Given the description of an element on the screen output the (x, y) to click on. 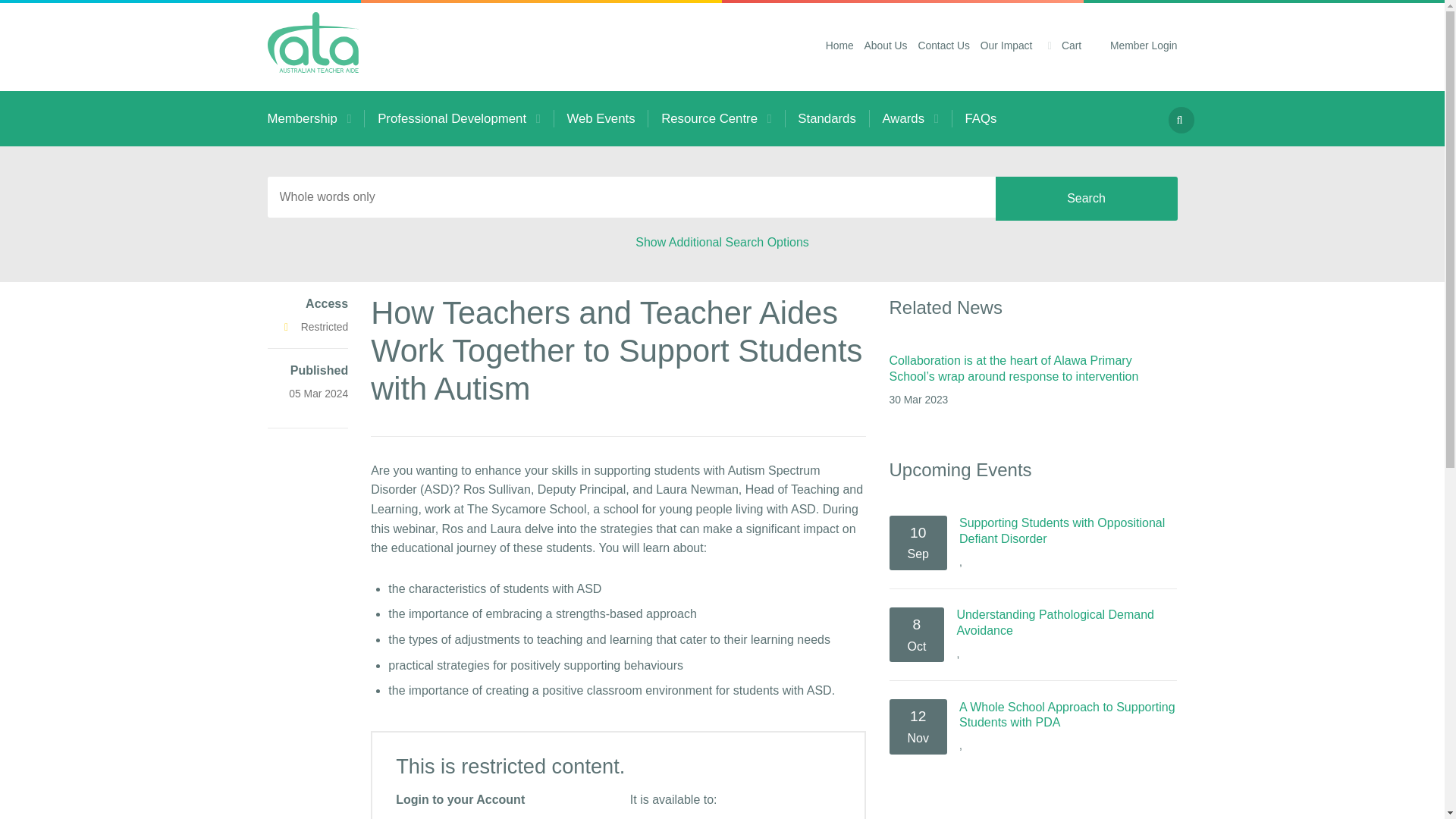
About Us (880, 44)
Web Events (601, 118)
Resource Centre (715, 118)
Cart (1056, 44)
Our Impact (1000, 44)
Professional Development (459, 118)
Membership (315, 118)
Search (1085, 198)
Enter the terms you wish to search for. (630, 196)
Home (834, 44)
Contact Us (938, 44)
Member Login (1128, 44)
